Given the description of an element on the screen output the (x, y) to click on. 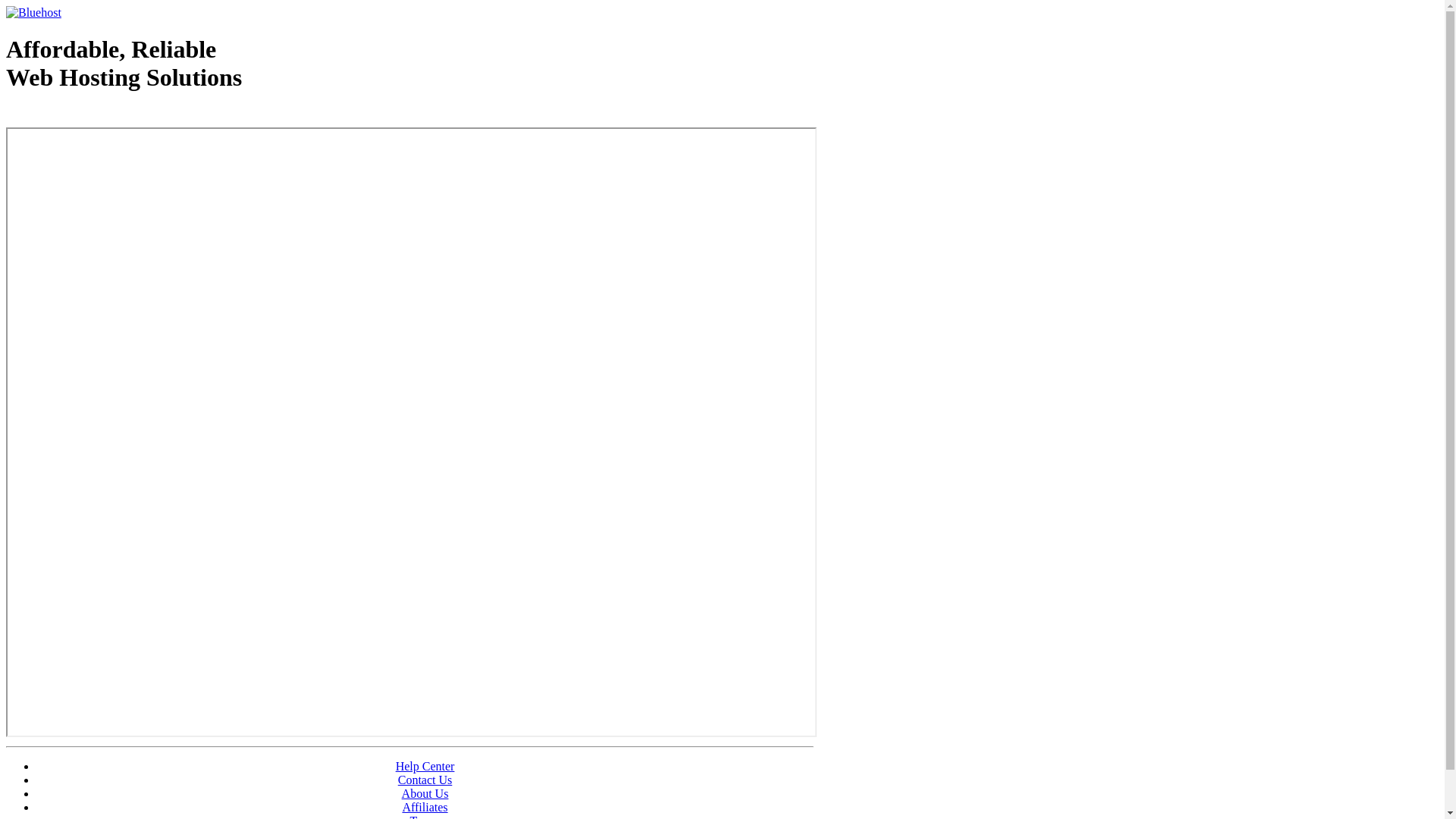
About Us Element type: text (424, 793)
Affiliates Element type: text (424, 806)
Web Hosting - courtesy of www.bluehost.com Element type: text (94, 115)
Help Center Element type: text (425, 765)
Contact Us Element type: text (425, 779)
